Given the description of an element on the screen output the (x, y) to click on. 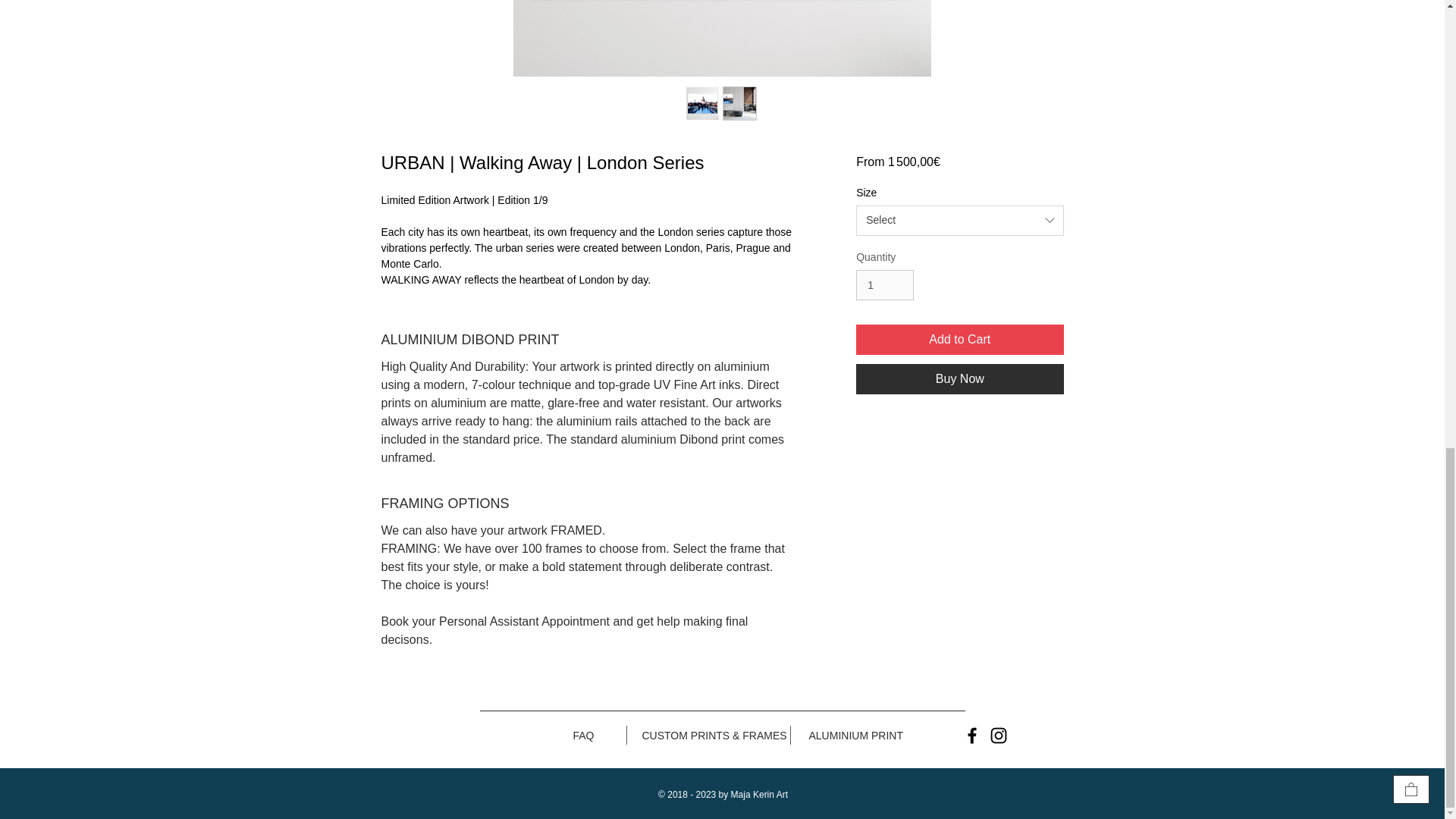
Add to Cart (959, 339)
1 (885, 285)
ALUMINIUM PRINT (855, 735)
FAQ (583, 735)
Select (959, 220)
Buy Now (959, 378)
